Given the description of an element on the screen output the (x, y) to click on. 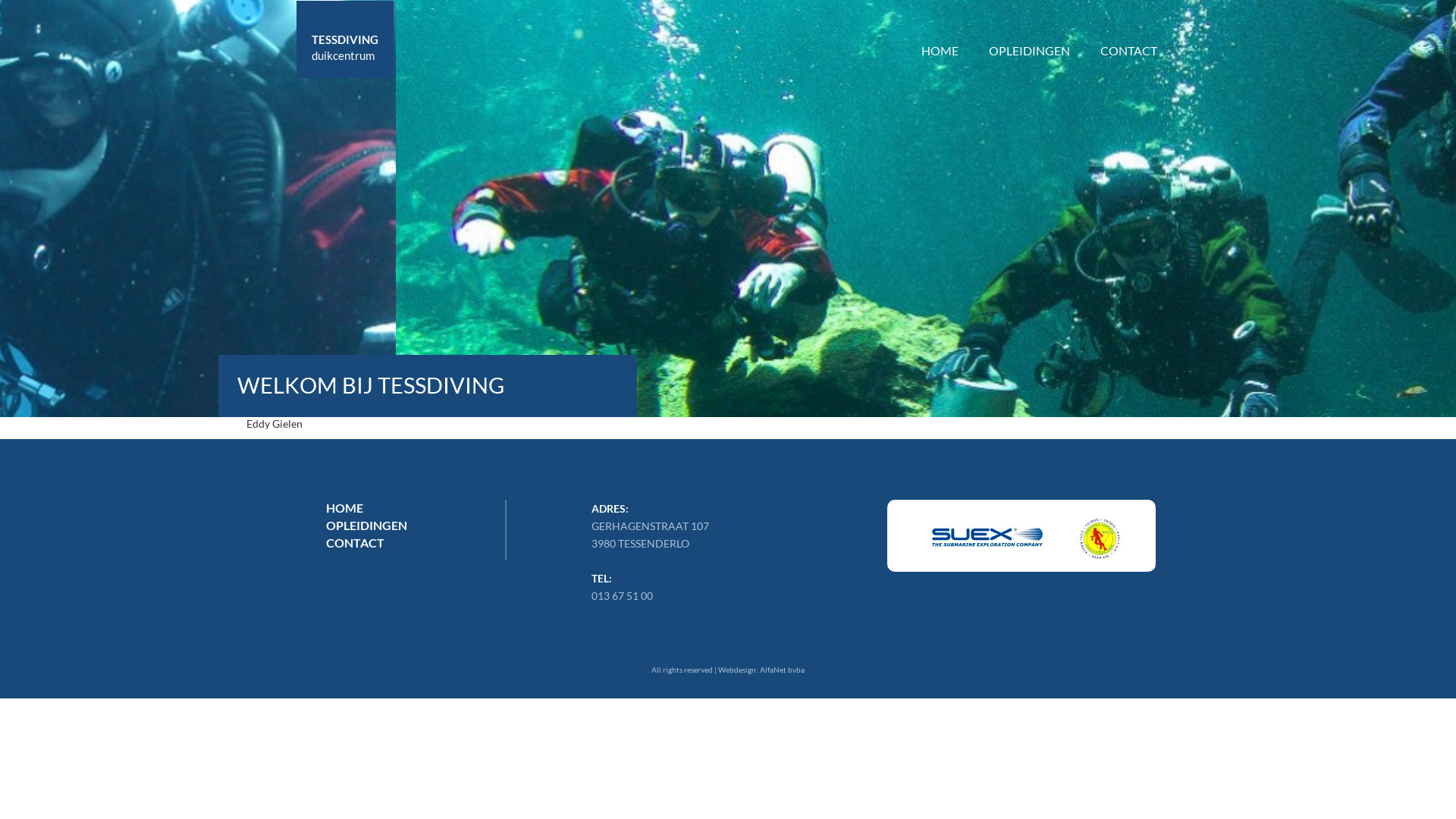
HOME Element type: text (344, 507)
OPLEIDINGEN Element type: text (1029, 29)
TESSDIVING
duikcentrum Element type: text (344, 39)
OPLEIDINGEN Element type: text (366, 524)
HOME Element type: text (939, 29)
AlfaNet bvba Element type: text (781, 669)
CONTACT Element type: text (355, 542)
CONTACT Element type: text (1128, 29)
